Given the description of an element on the screen output the (x, y) to click on. 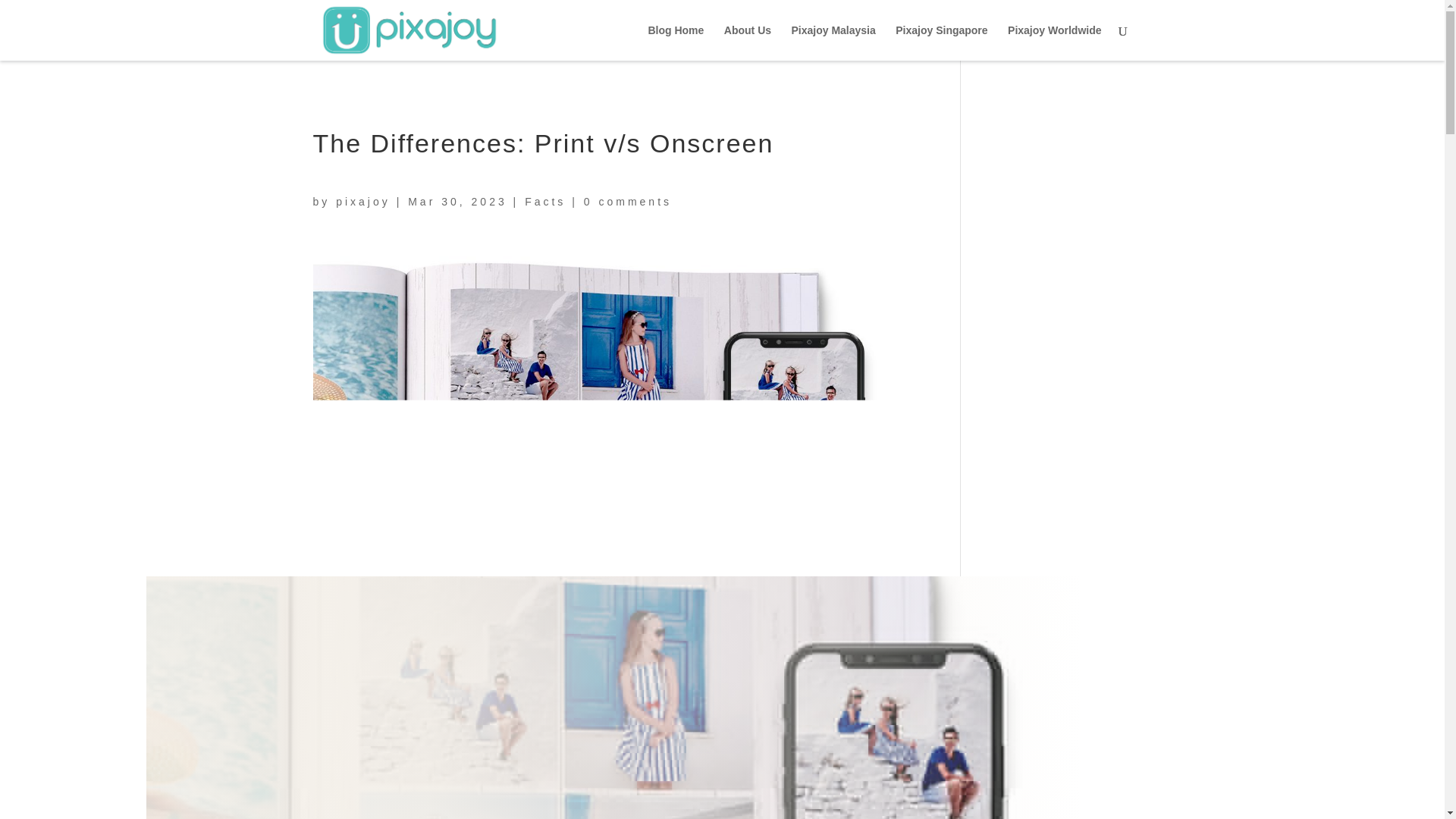
Facts (545, 201)
Pixajoy Worldwide (1053, 42)
Pixajoy Singapore (941, 42)
About Us (747, 42)
Posts by pixajoy (363, 201)
0 comments (627, 201)
pixajoy (363, 201)
Pixajoy Malaysia (832, 42)
Blog Home (675, 42)
